Given the description of an element on the screen output the (x, y) to click on. 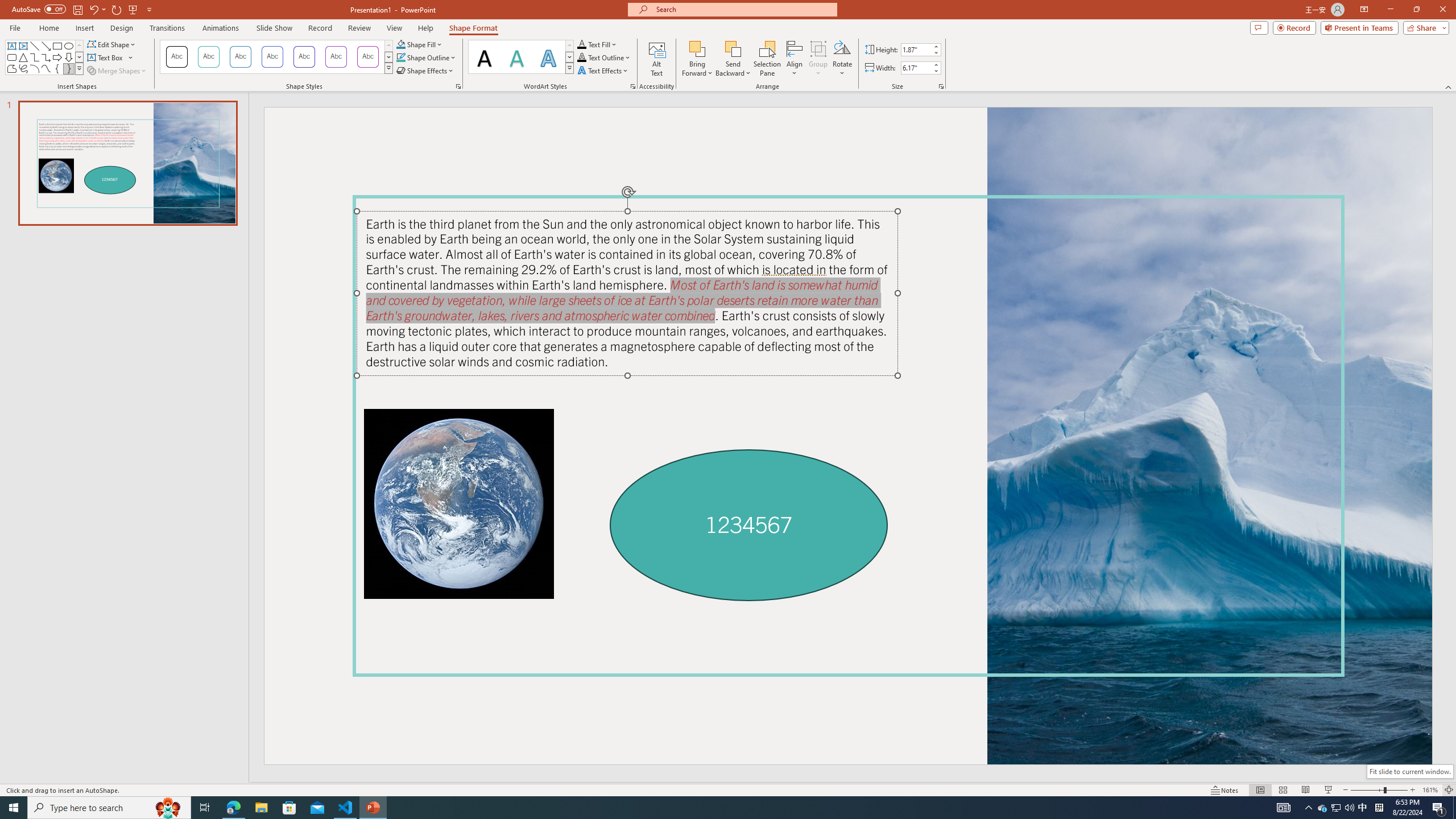
Ribbon Display Options (1364, 9)
AutomationID: TextStylesGallery (521, 56)
Notes  (1225, 790)
Shape Height (915, 49)
Text Outline RGB(0, 0, 0) (581, 56)
Zoom to Fit  (1449, 790)
Animations (220, 28)
Home (48, 28)
Record (1294, 27)
Send Backward (733, 48)
Shape Format (473, 28)
Merge Shapes (117, 69)
Zoom 161% (1430, 790)
Normal (1260, 790)
Review (359, 28)
